Given the description of an element on the screen output the (x, y) to click on. 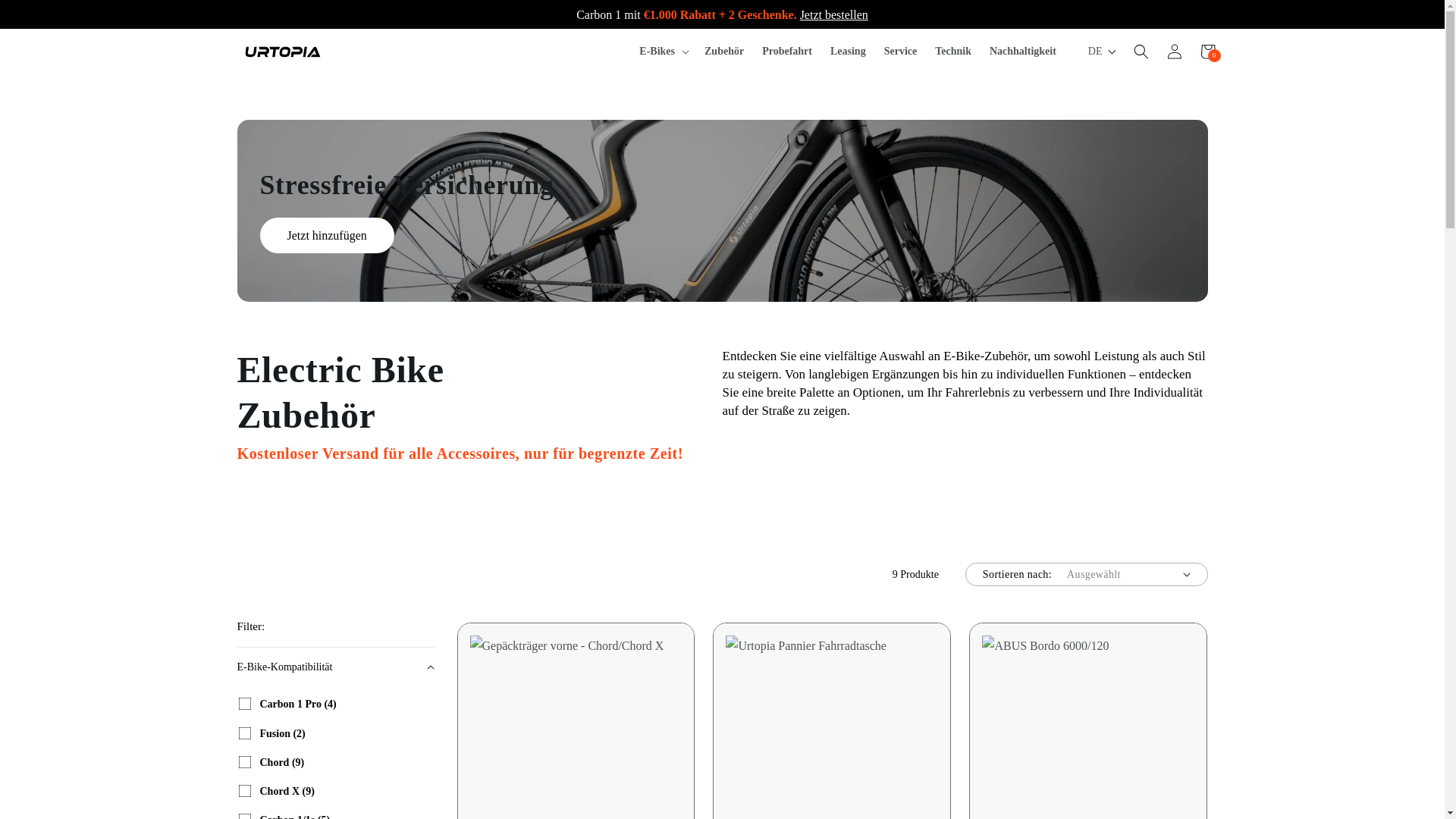
Technik (952, 51)
Direkt zum Inhalt (45, 17)
Chord X (244, 790)
Carbon 1 Pro (244, 703)
Service (900, 51)
Probefahrt (786, 51)
Fusion (244, 733)
Jetzt bestellen (833, 13)
Einloggen (1174, 51)
Nachhaltigkeit (1022, 51)
